Given the description of an element on the screen output the (x, y) to click on. 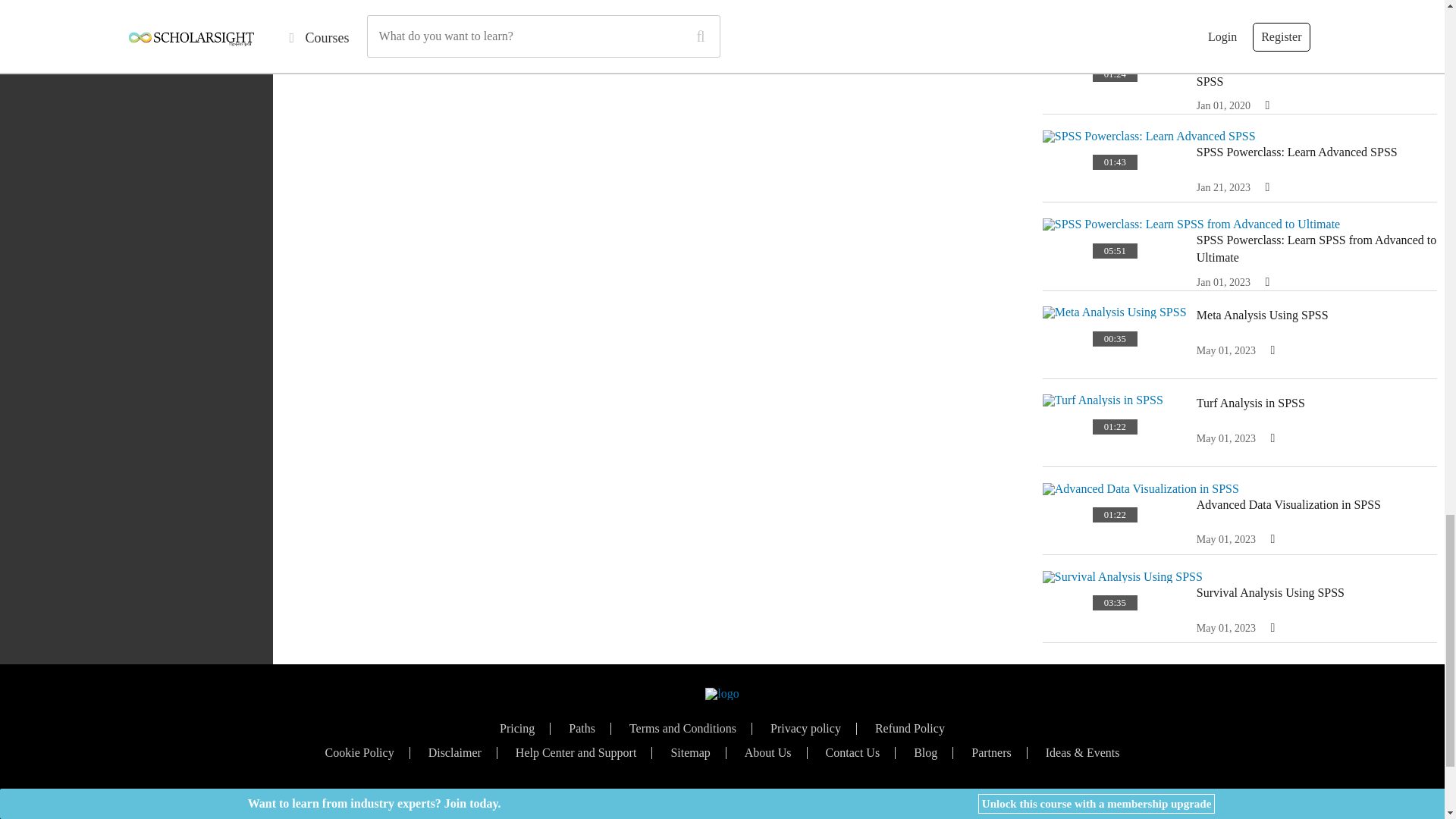
Become an Instructor (655, 801)
Register an Institute (791, 801)
